Given the description of an element on the screen output the (x, y) to click on. 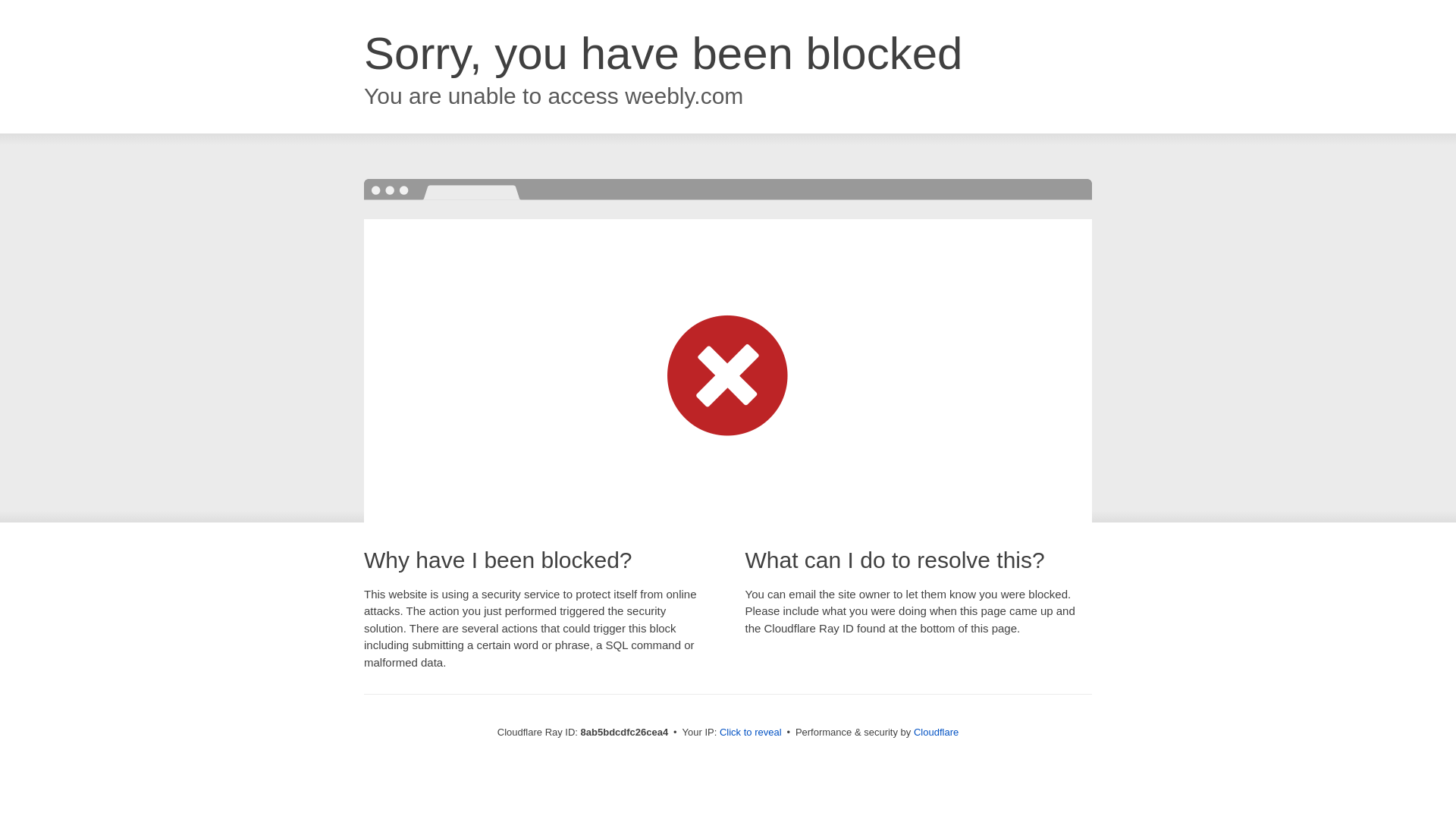
Cloudflare (936, 731)
Click to reveal (750, 732)
